Given the description of an element on the screen output the (x, y) to click on. 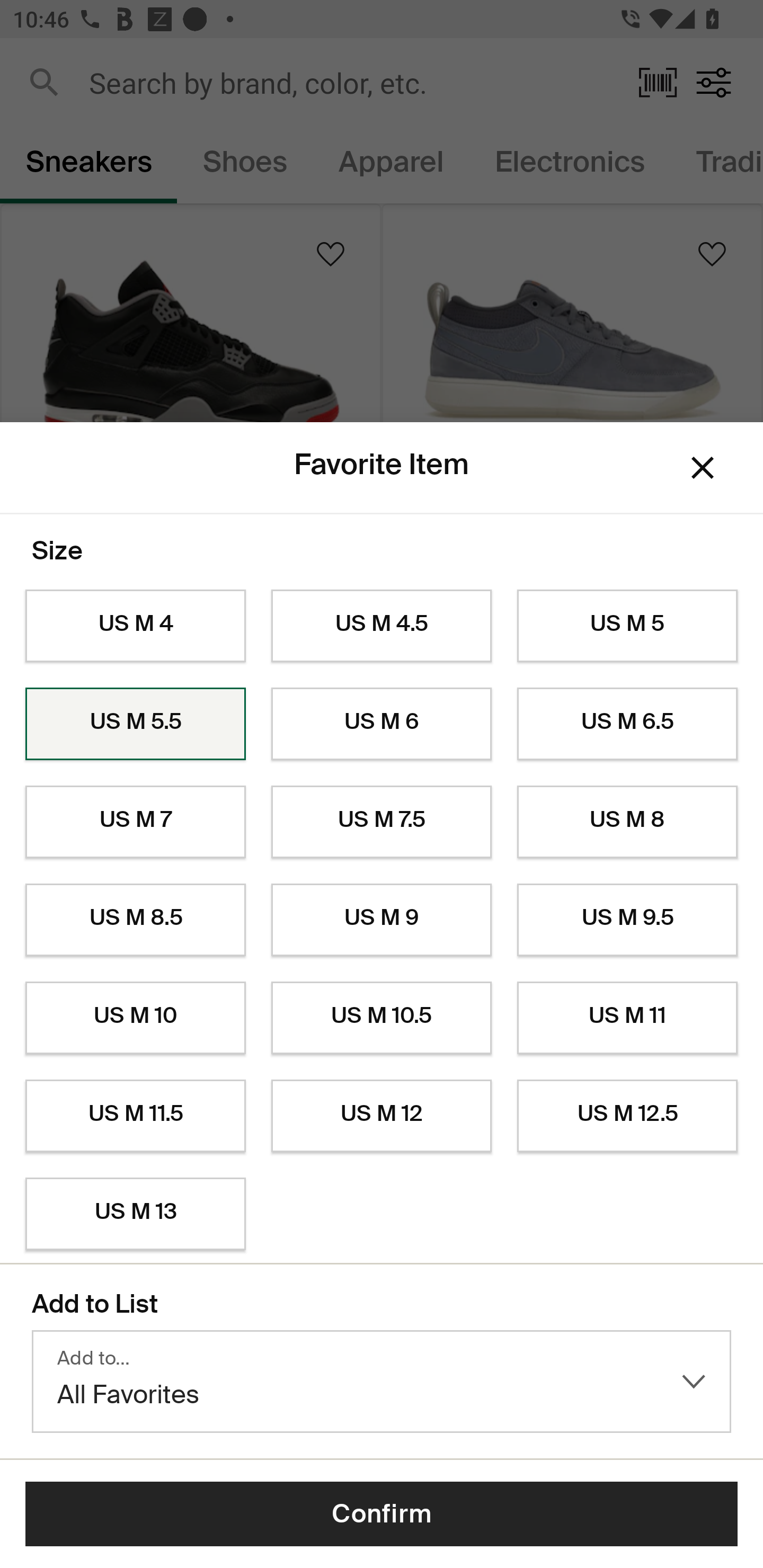
Dismiss (702, 467)
US M 4 (135, 626)
US M 4.5 (381, 626)
US M 5 (627, 626)
US M 5.5 (135, 724)
US M 6 (381, 724)
US M 6.5 (627, 724)
US M 7 (135, 822)
US M 7.5 (381, 822)
US M 8 (627, 822)
US M 8.5 (135, 919)
US M 9 (381, 919)
US M 9.5 (627, 919)
US M 10 (135, 1018)
US M 10.5 (381, 1018)
US M 11 (627, 1018)
US M 11.5 (135, 1116)
US M 12 (381, 1116)
US M 12.5 (627, 1116)
US M 13 (135, 1214)
Add to… All Favorites (381, 1381)
Confirm (381, 1513)
